Given the description of an element on the screen output the (x, y) to click on. 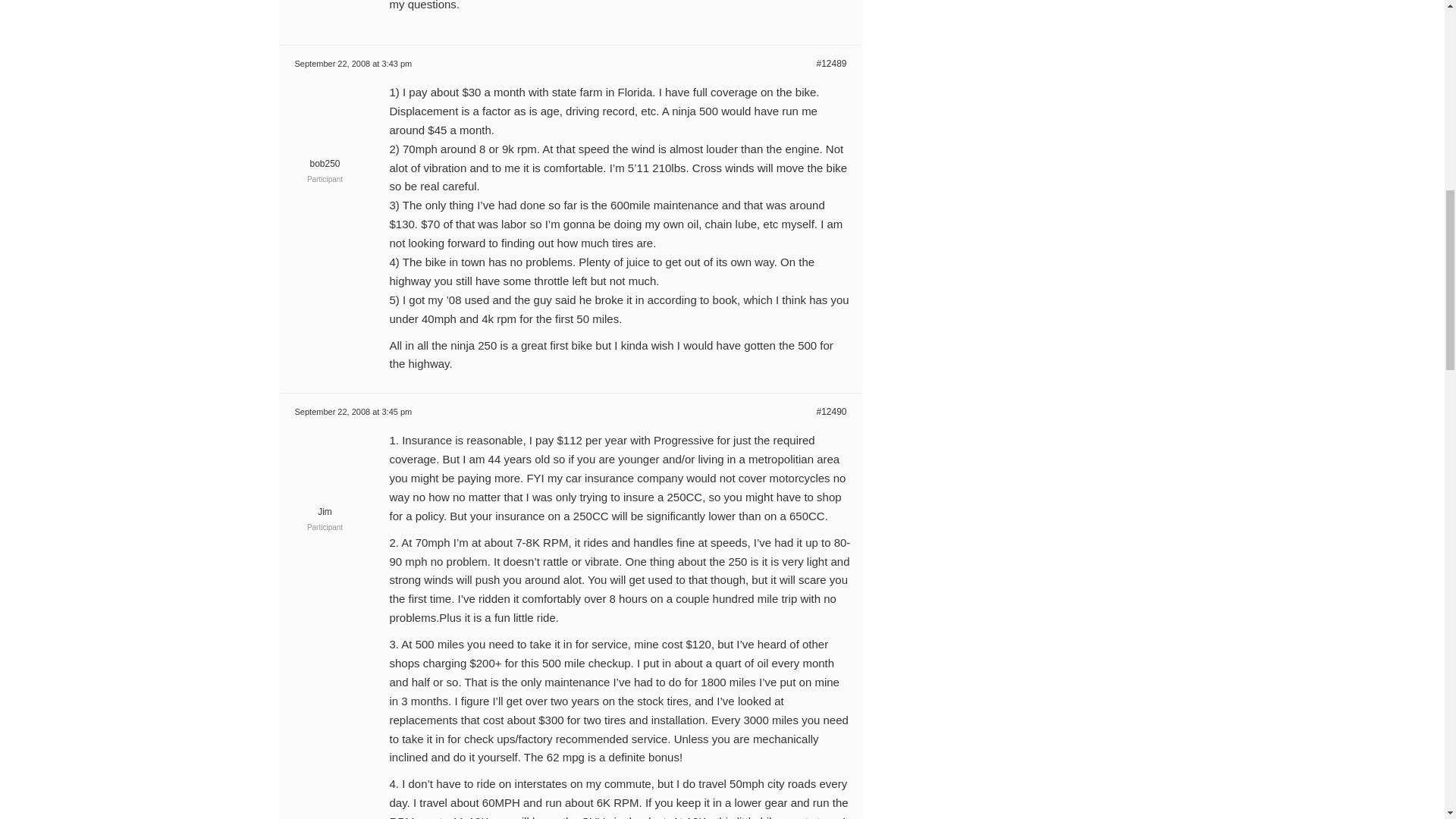
View Jim's profile (324, 503)
View bob250's profile (324, 155)
